Given the description of an element on the screen output the (x, y) to click on. 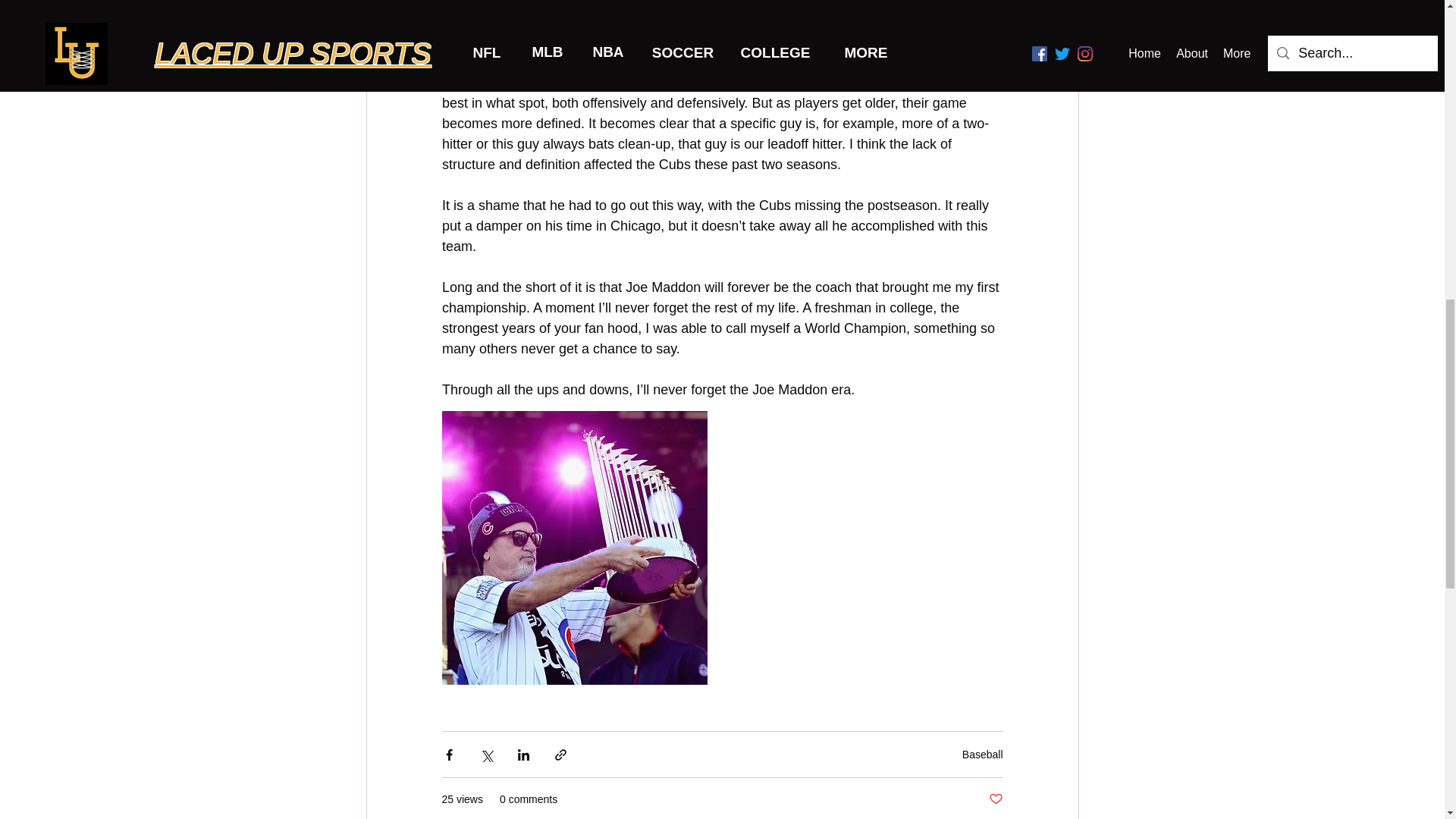
Baseball (982, 754)
Post not marked as liked (995, 799)
